Given the description of an element on the screen output the (x, y) to click on. 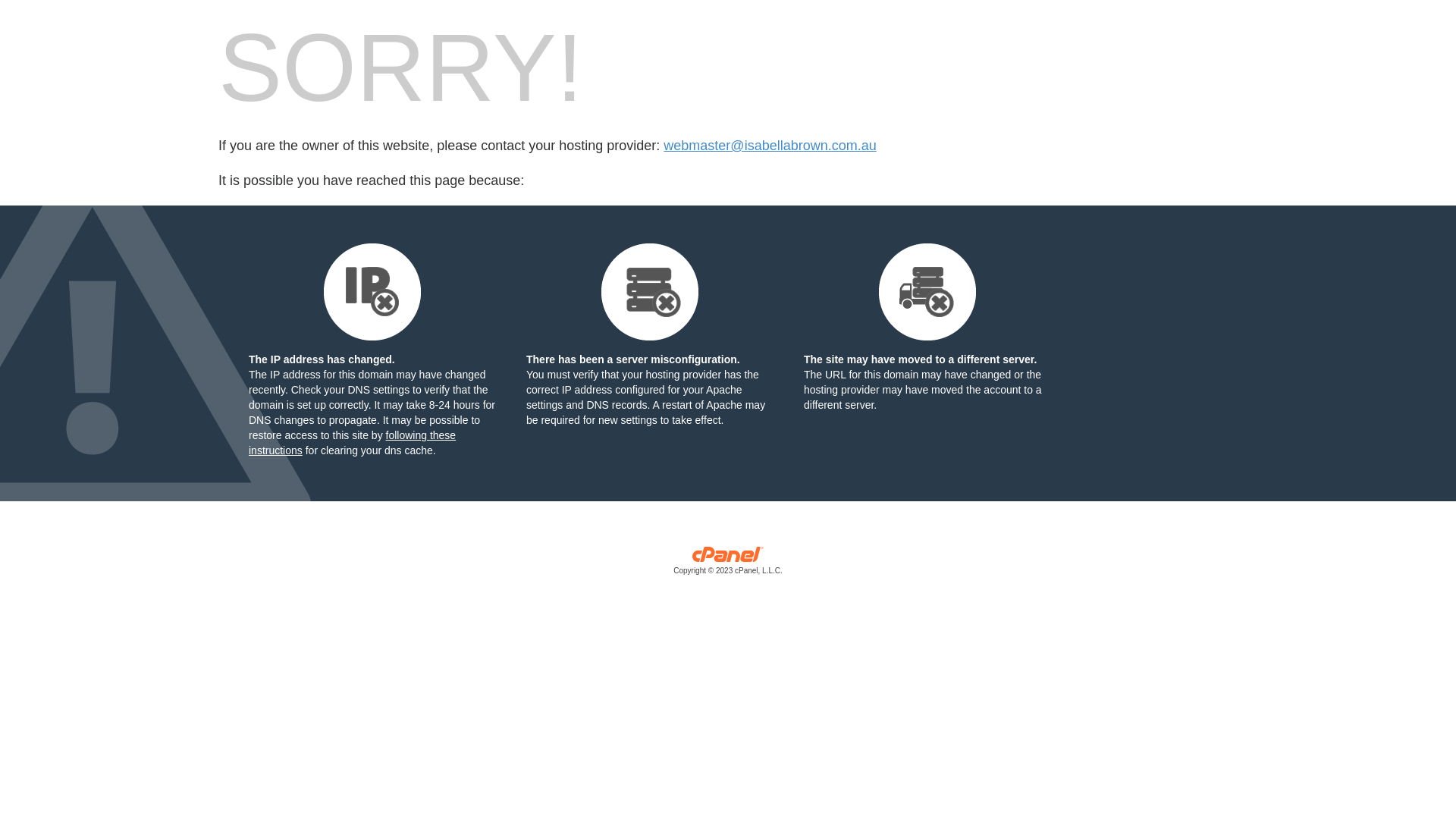
following these instructions Element type: text (351, 442)
webmaster@isabellabrown.com.au Element type: text (769, 145)
